Given the description of an element on the screen output the (x, y) to click on. 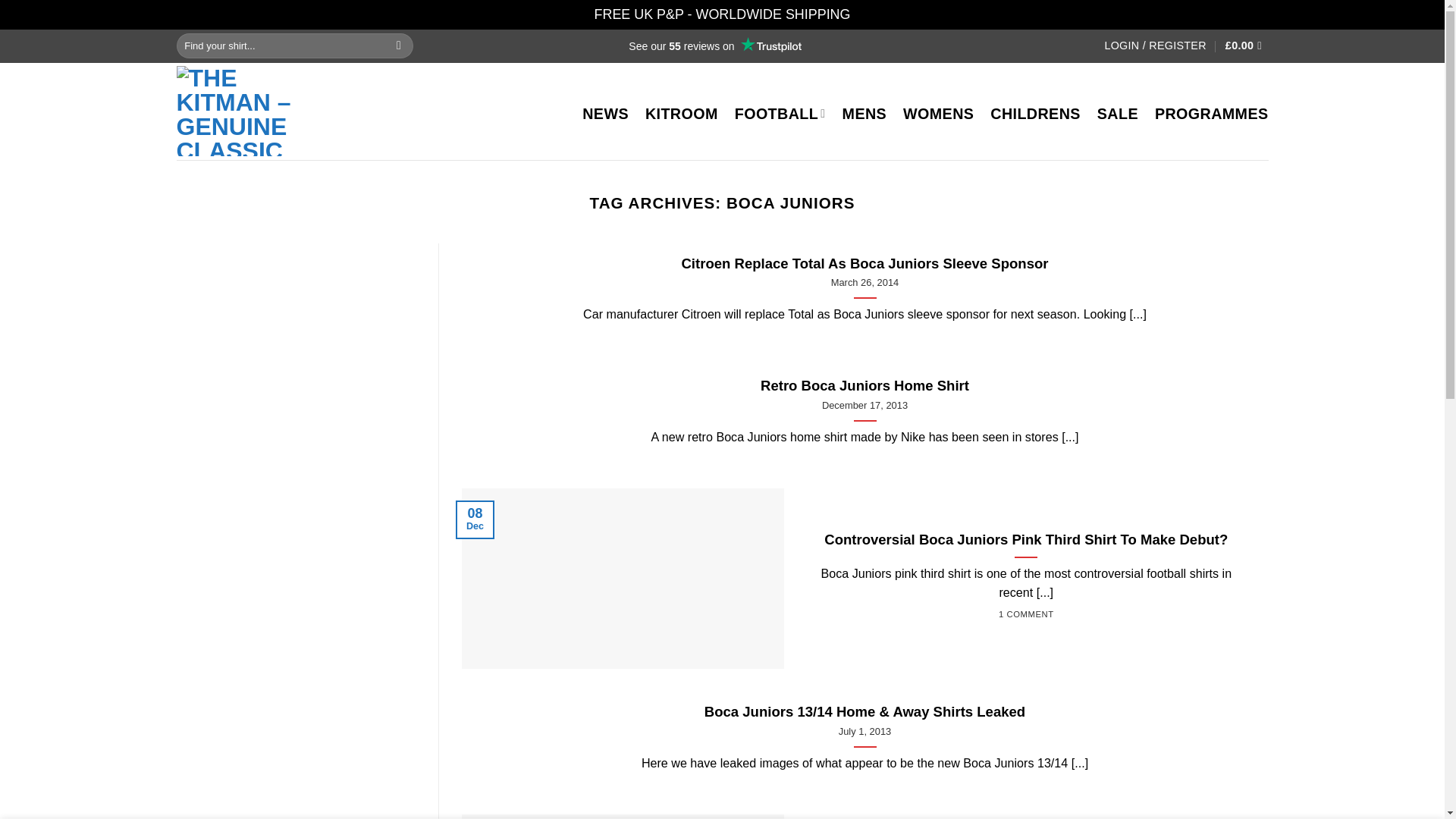
Customer reviews powered by Trustpilot (714, 45)
Search (399, 45)
Basket (1246, 45)
FOOTBALL (780, 113)
